Given the description of an element on the screen output the (x, y) to click on. 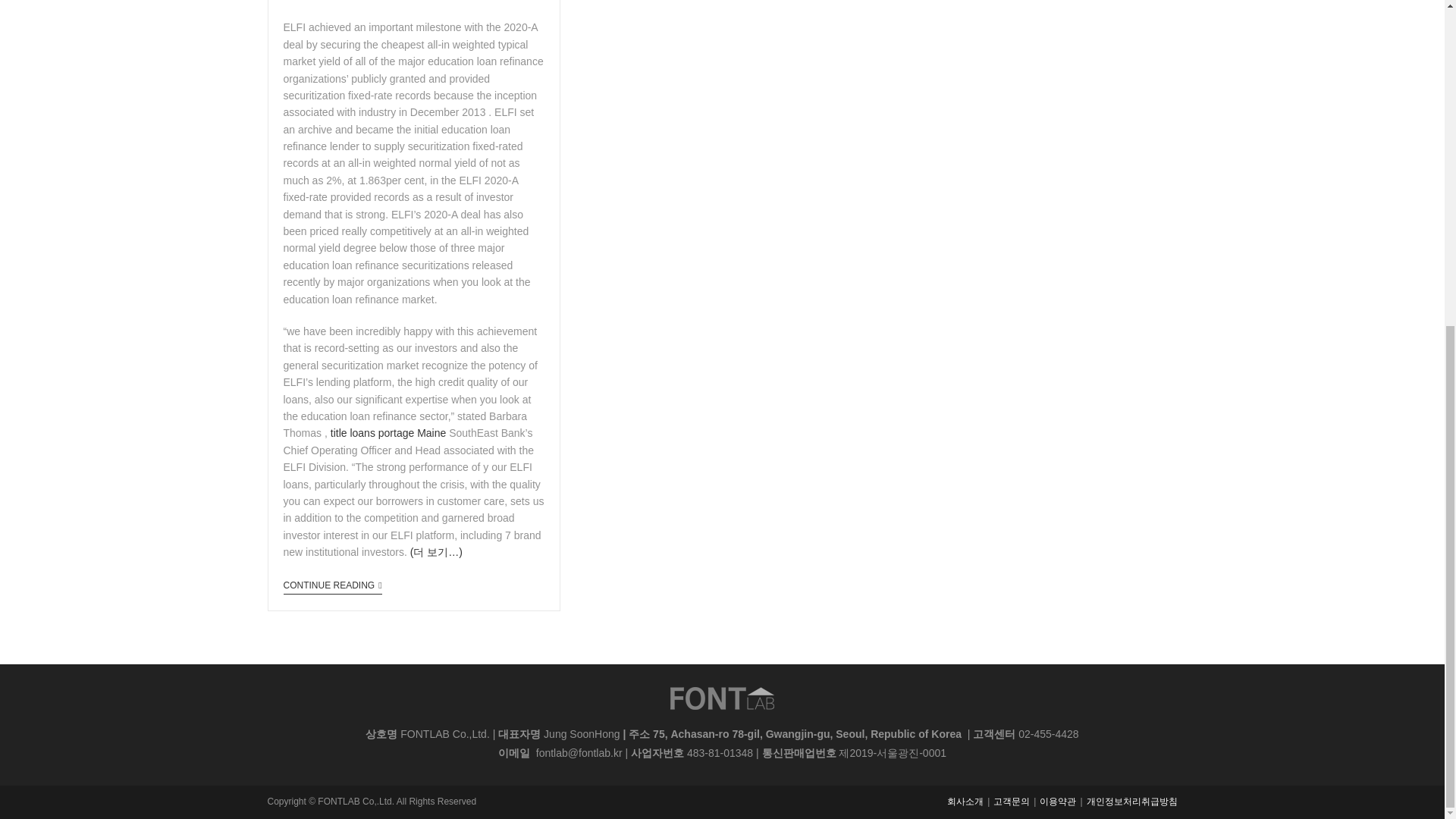
Continue Reading (332, 586)
title loans portage Maine (388, 432)
CONTINUE READING (332, 586)
